Given the description of an element on the screen output the (x, y) to click on. 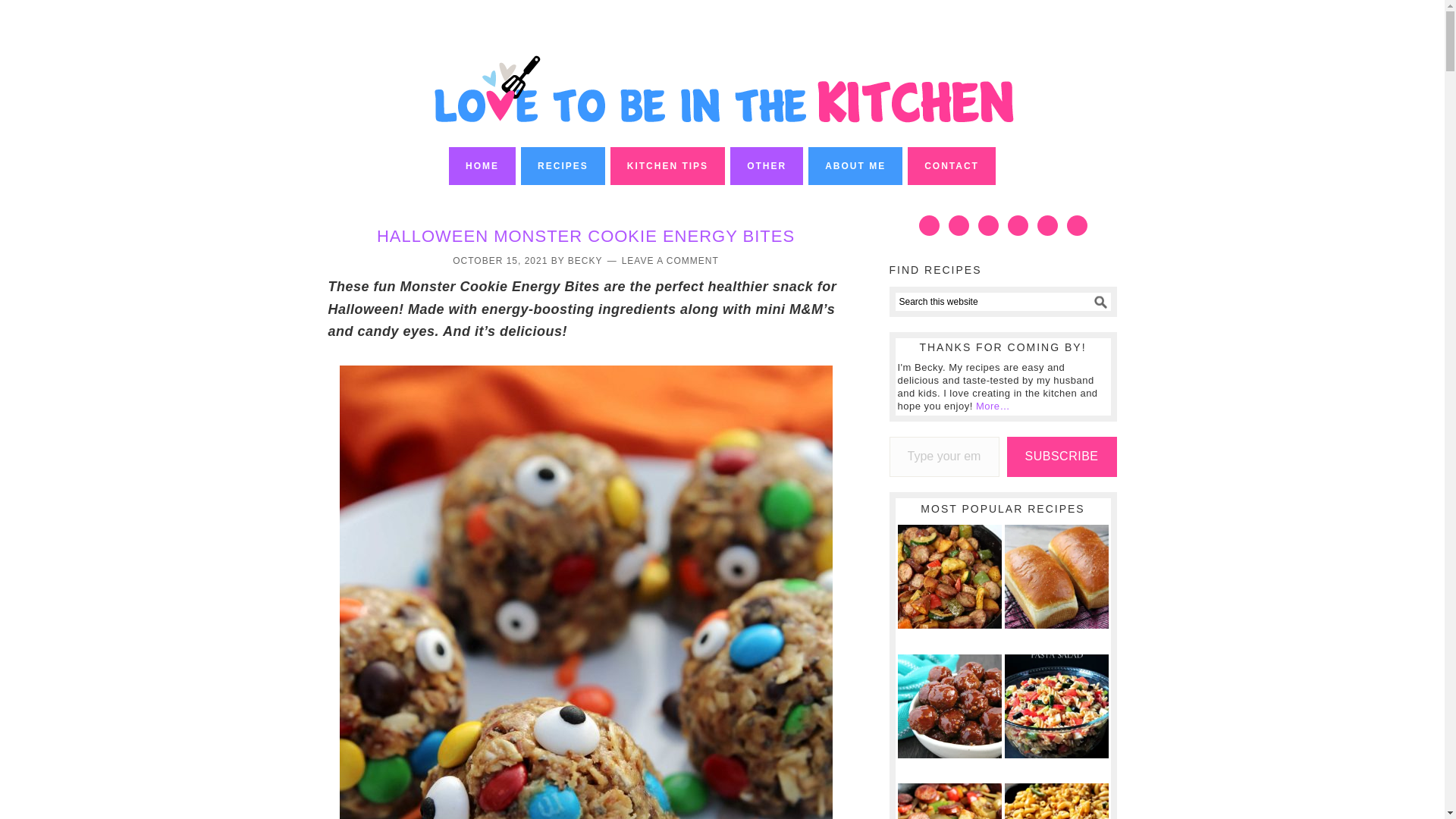
Smoked Sausage Hash (949, 800)
RECIPES (563, 166)
BECKY (584, 260)
CONTACT (951, 166)
LEAVE A COMMENT (670, 260)
LOVE TO BE IN THE KITCHEN (729, 73)
Skillet Cheesy Beef and Veggie Macaroni (1056, 800)
Please fill in this field. (943, 456)
SUBSCRIBE (1061, 456)
OTHER (766, 166)
KITCHEN TIPS (667, 166)
ABOUT ME (855, 166)
